Given the description of an element on the screen output the (x, y) to click on. 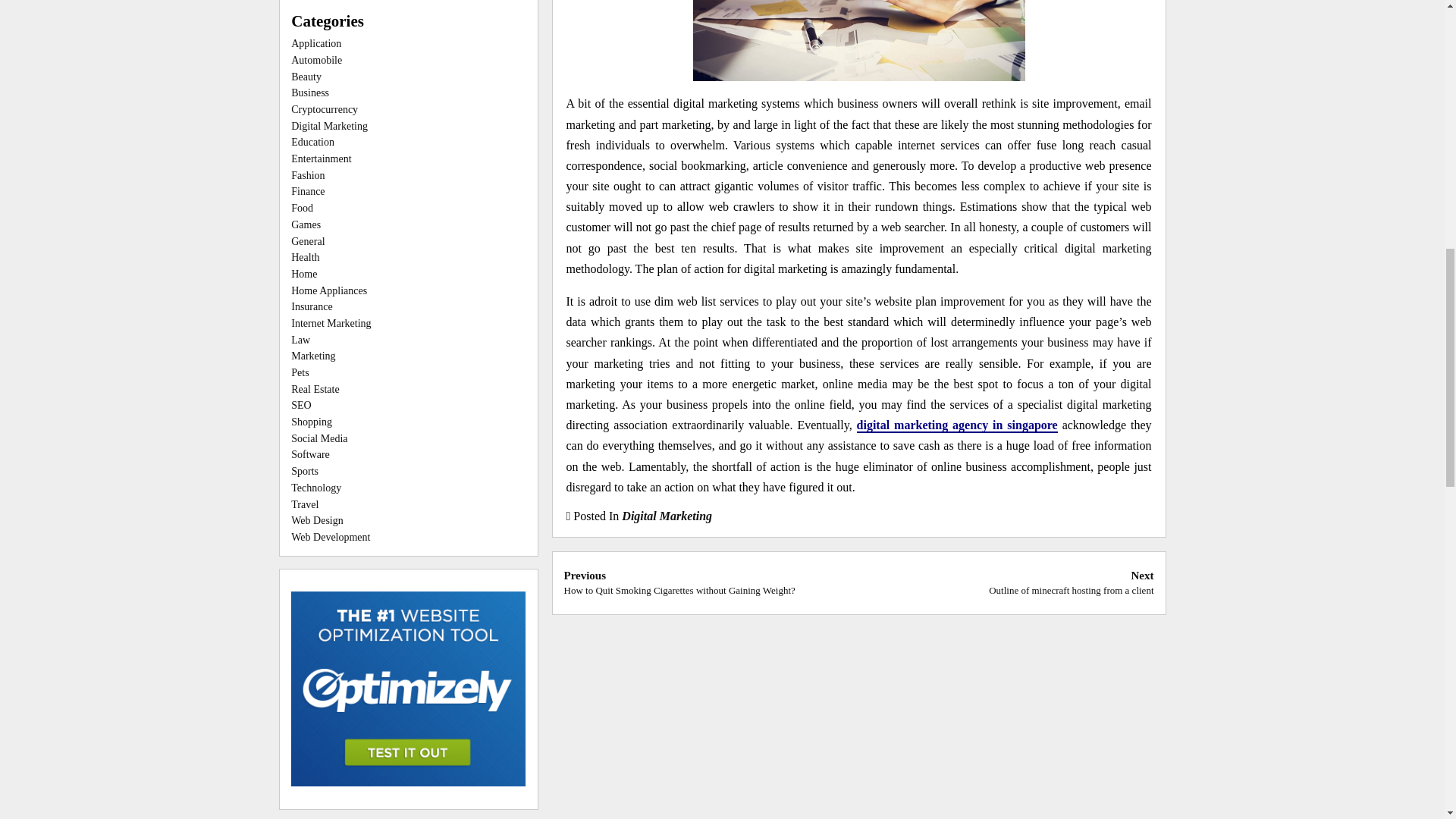
Beauty (306, 76)
Fashion (307, 174)
Internet Marketing (331, 323)
Pets (299, 372)
Software (310, 454)
Digital Marketing (666, 515)
SEO (301, 405)
digital marketing agency in singapore (957, 425)
Application (315, 43)
Food (302, 207)
Digital Marketing (329, 125)
Marketing (312, 355)
Health (304, 256)
General (307, 241)
